Given the description of an element on the screen output the (x, y) to click on. 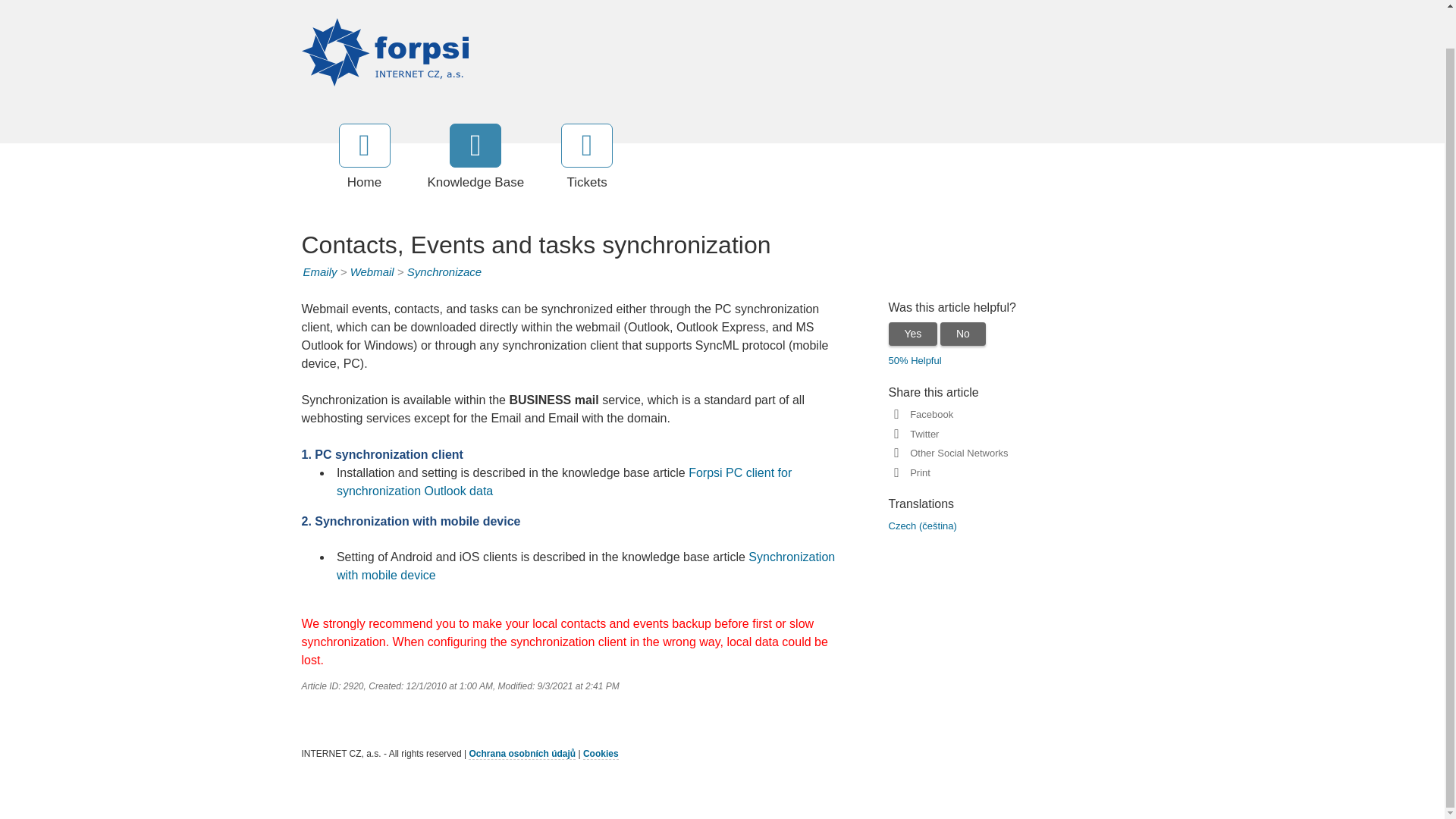
Yes (912, 333)
Synchronization with mobile device (585, 565)
Facebook (928, 414)
Tickets (586, 157)
Other Social Networks (955, 452)
Emaily (319, 271)
Synchronizace (444, 271)
Forpsi PC client for synchronization Outlook data (564, 481)
Twitter (921, 433)
Home (364, 157)
